Given the description of an element on the screen output the (x, y) to click on. 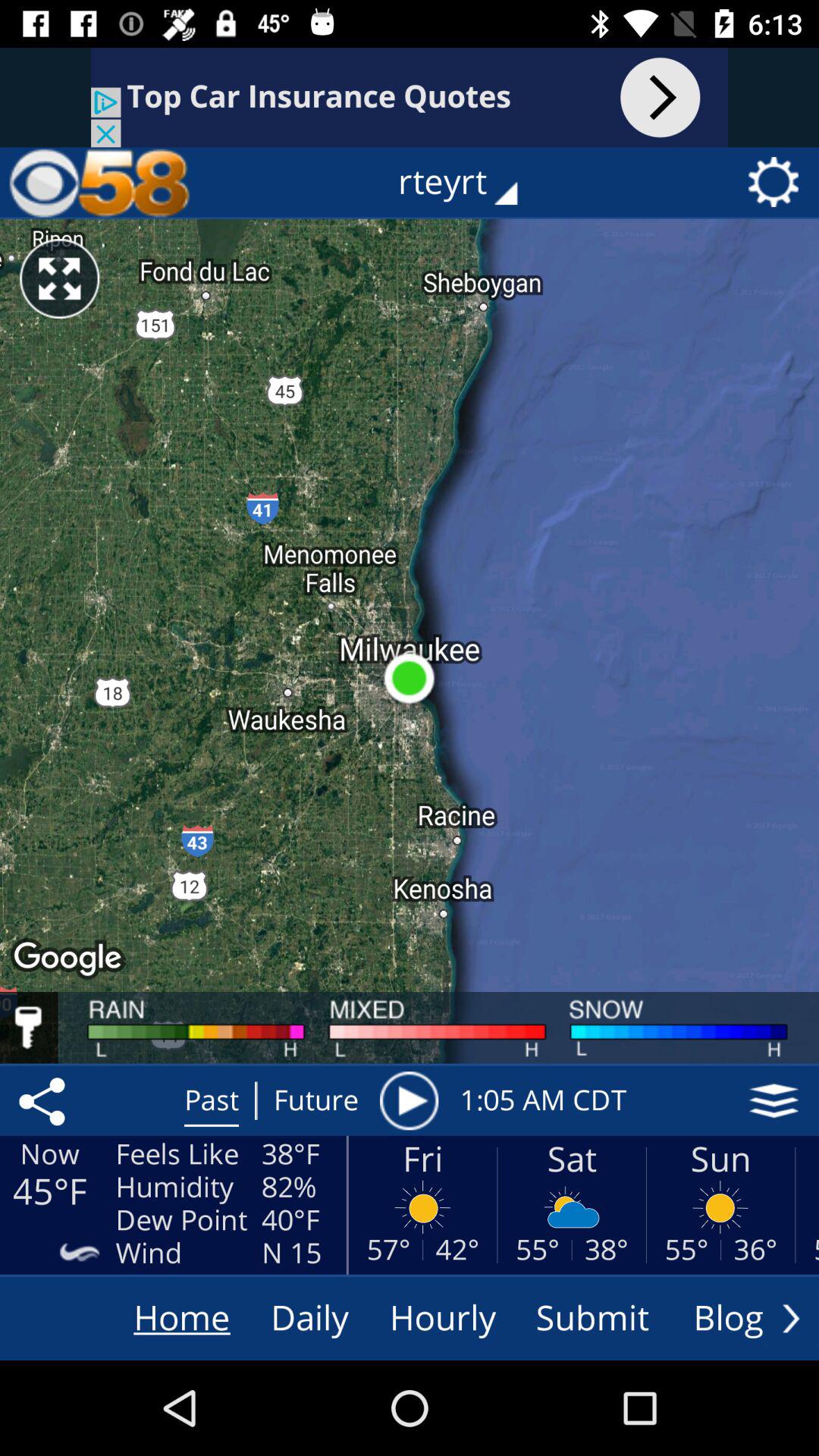
share information (44, 1100)
